Given the description of an element on the screen output the (x, y) to click on. 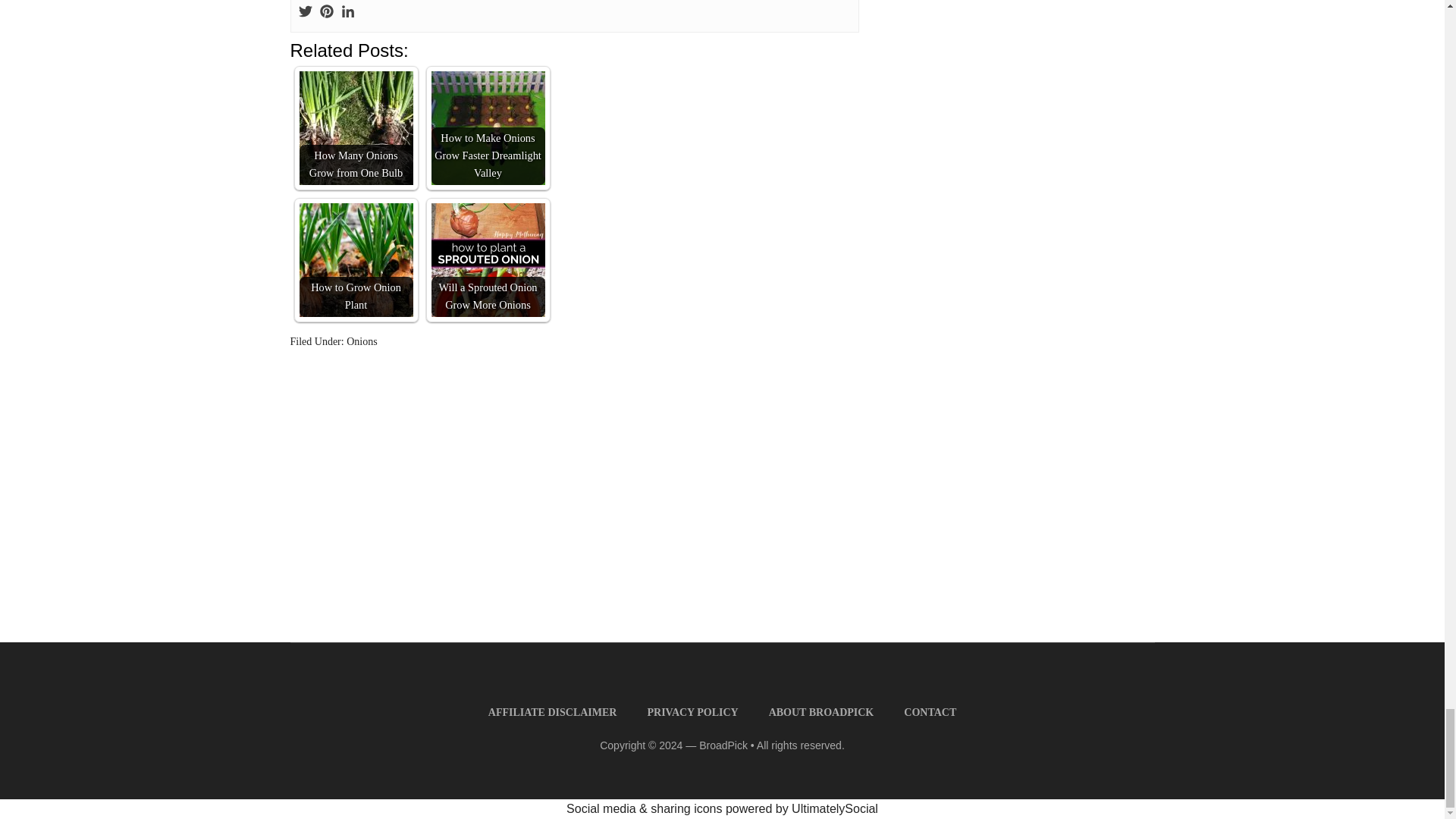
How to Grow Onion Plant (355, 259)
How to Make Onions Grow Faster Dreamlight Valley (487, 128)
How Many Onions Grow from One Bulb (355, 128)
Will a Sprouted Onion Grow More Onions (487, 259)
BroadPick (723, 745)
